Given the description of an element on the screen output the (x, y) to click on. 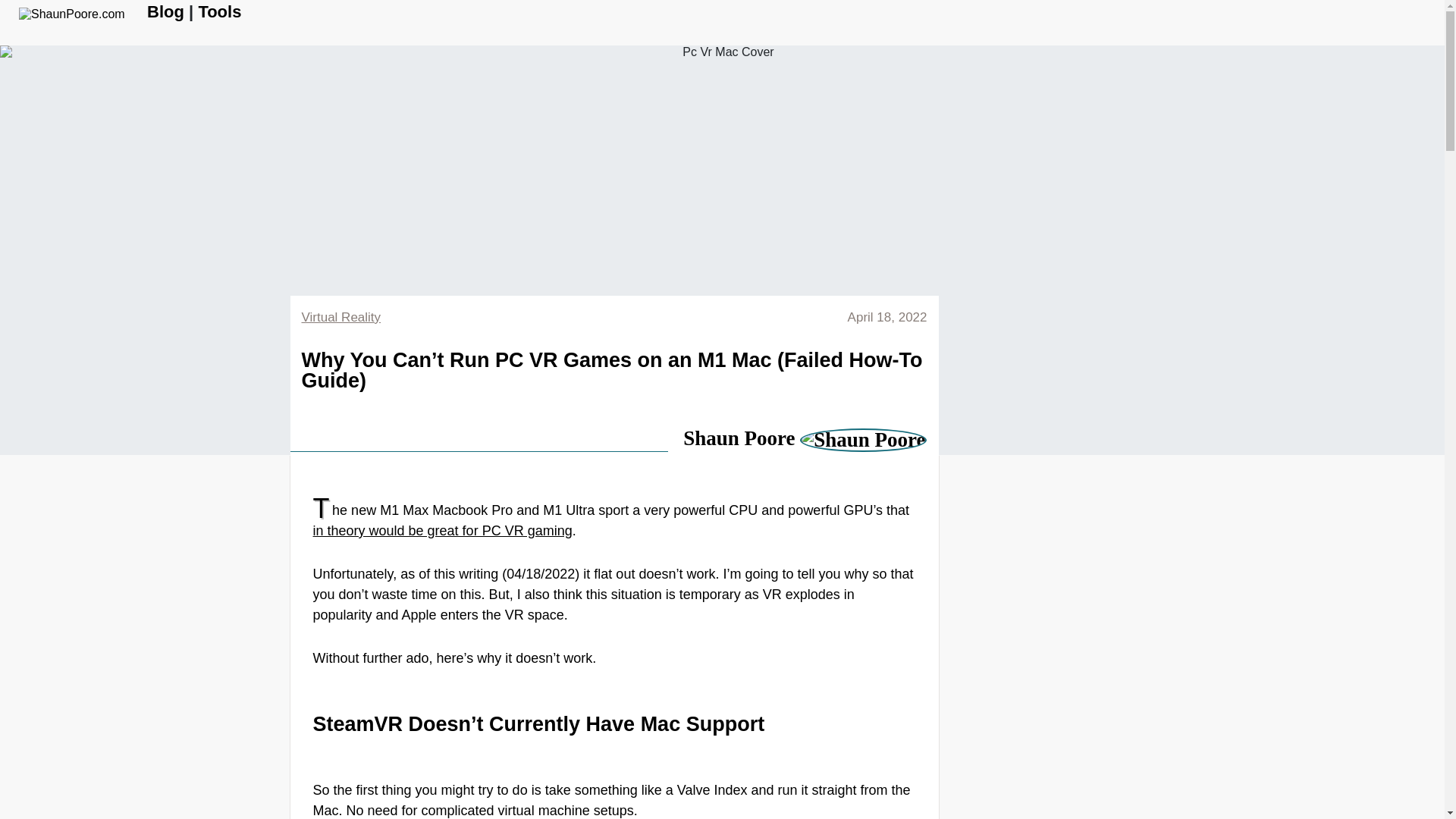
in theory would be great for PC VR gaming (442, 530)
Virtual Reality (341, 317)
Tools (219, 11)
Shaun Poore (804, 437)
Blog (165, 11)
